Given the description of an element on the screen output the (x, y) to click on. 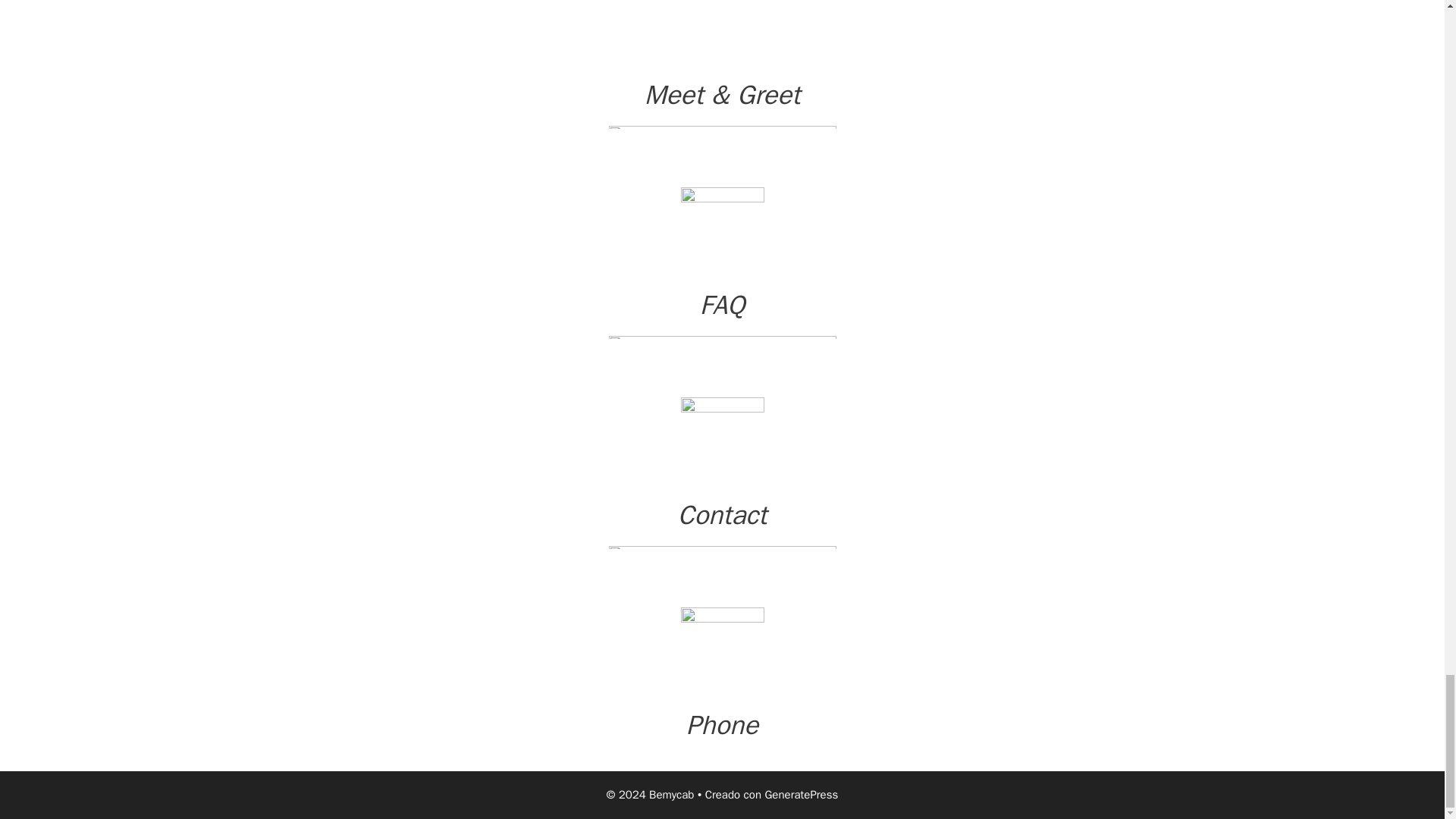
GeneratePress (801, 794)
